Given the description of an element on the screen output the (x, y) to click on. 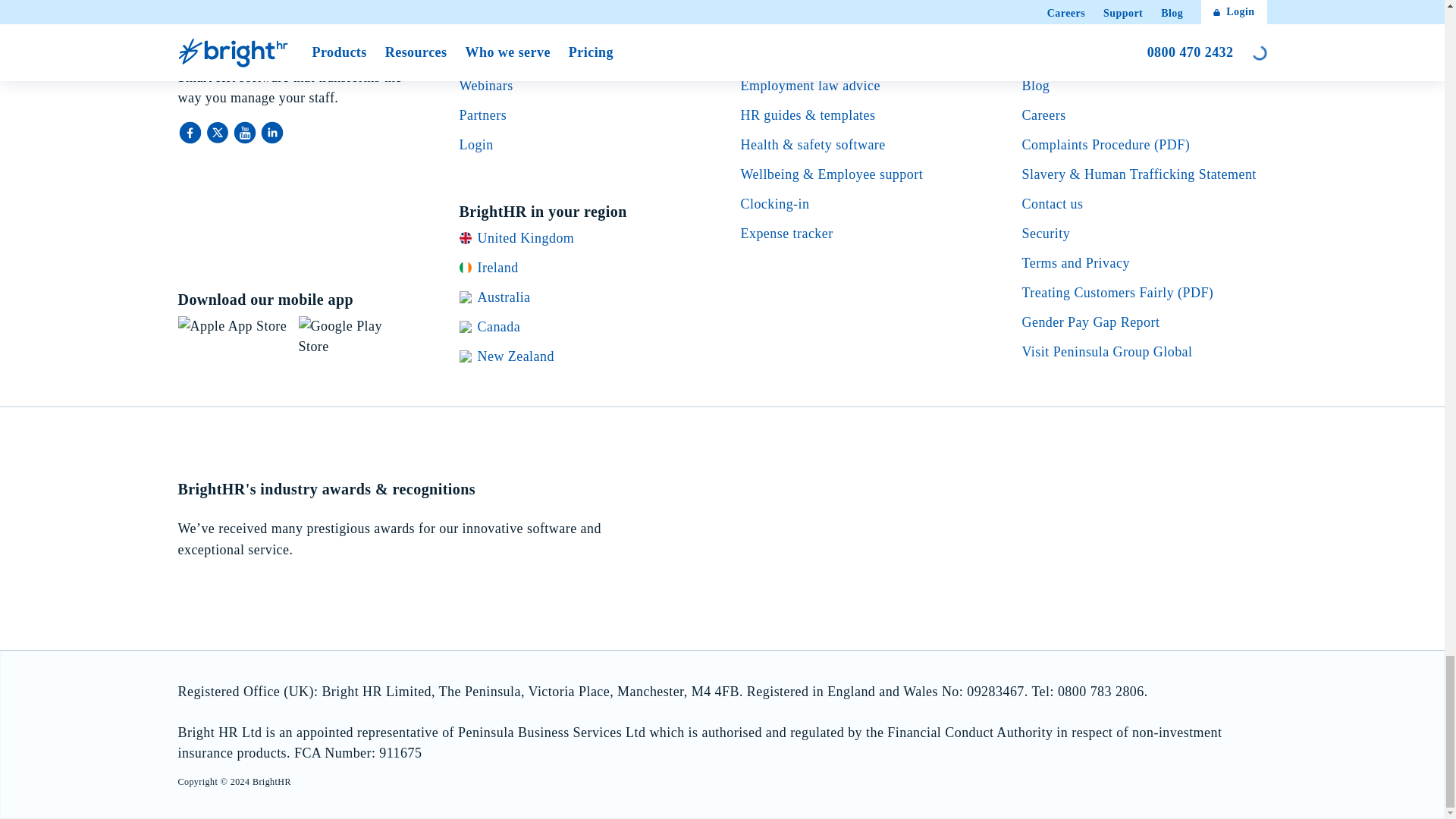
Partners (483, 114)
LinkedIn (271, 132)
Get Help (486, 55)
Youtube (245, 132)
Webinars (486, 85)
Twitter (218, 132)
Facebook (191, 132)
